Given the description of an element on the screen output the (x, y) to click on. 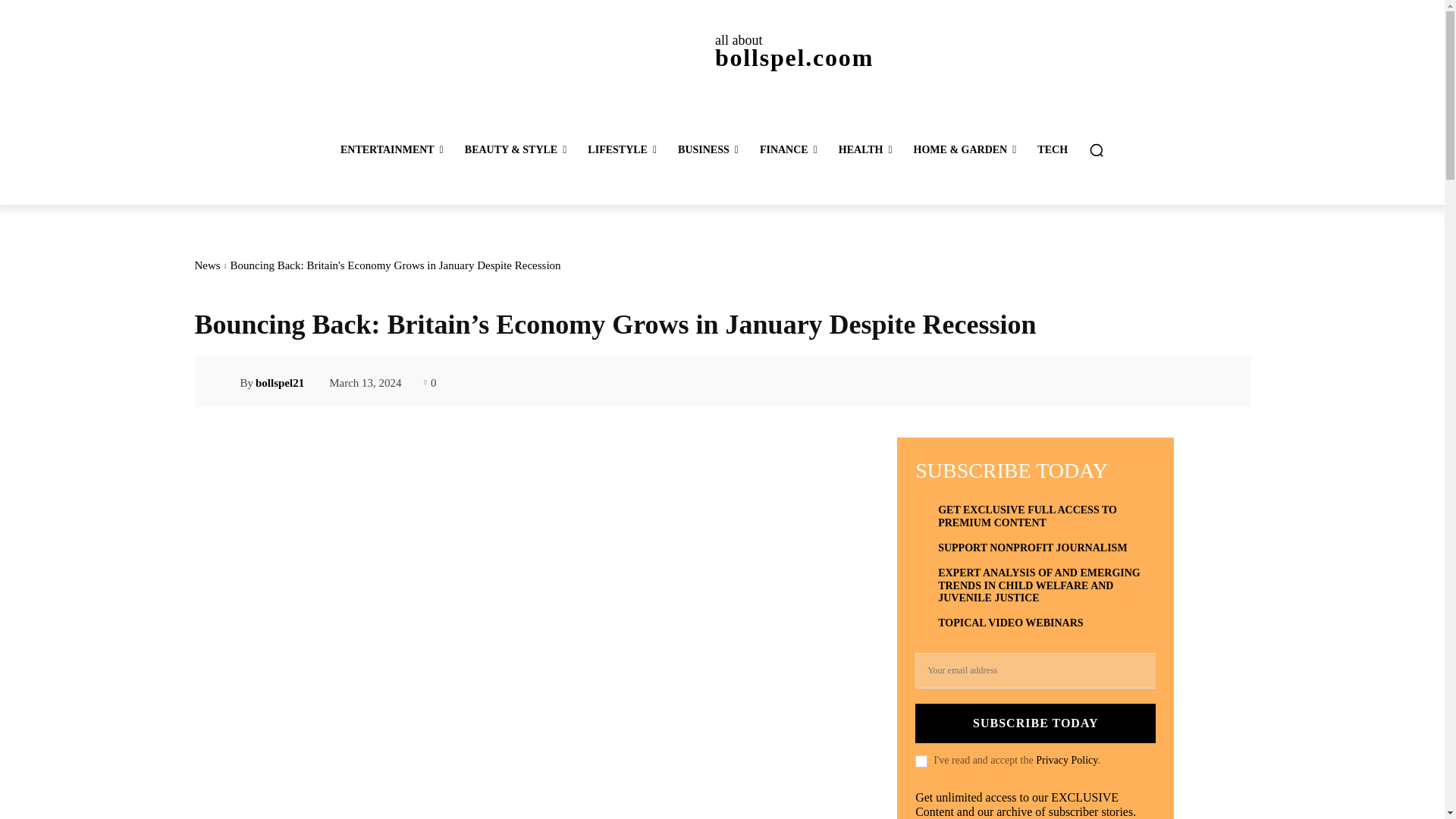
View all posts in News (206, 265)
bollspel21 (226, 382)
